Given the description of an element on the screen output the (x, y) to click on. 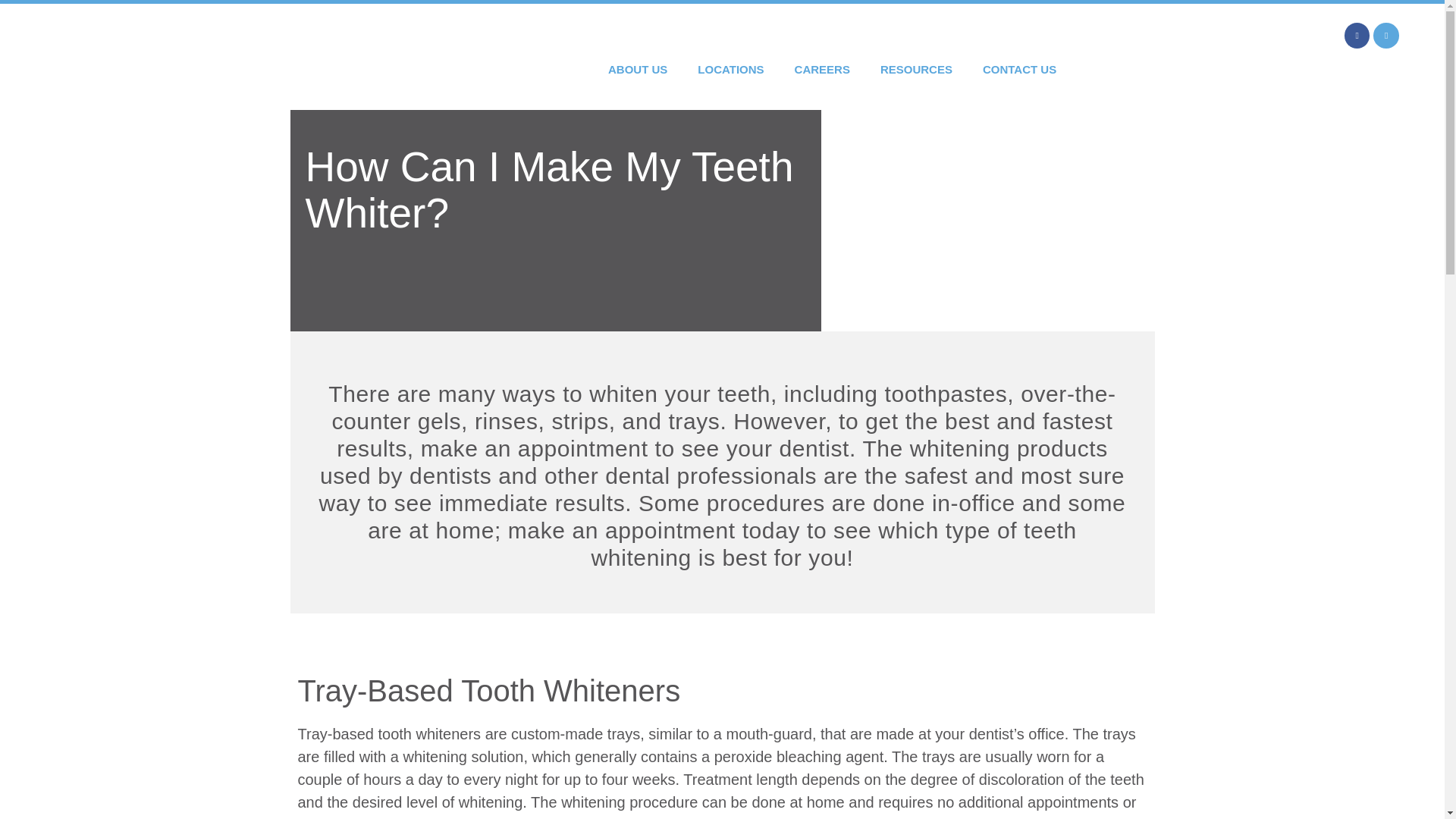
RESOURCES (916, 69)
CONTACT US (1019, 69)
CAREERS (821, 69)
ABOUT US (637, 69)
LOCATIONS (730, 69)
smart-dental-network-transparent (101, 56)
